Given the description of an element on the screen output the (x, y) to click on. 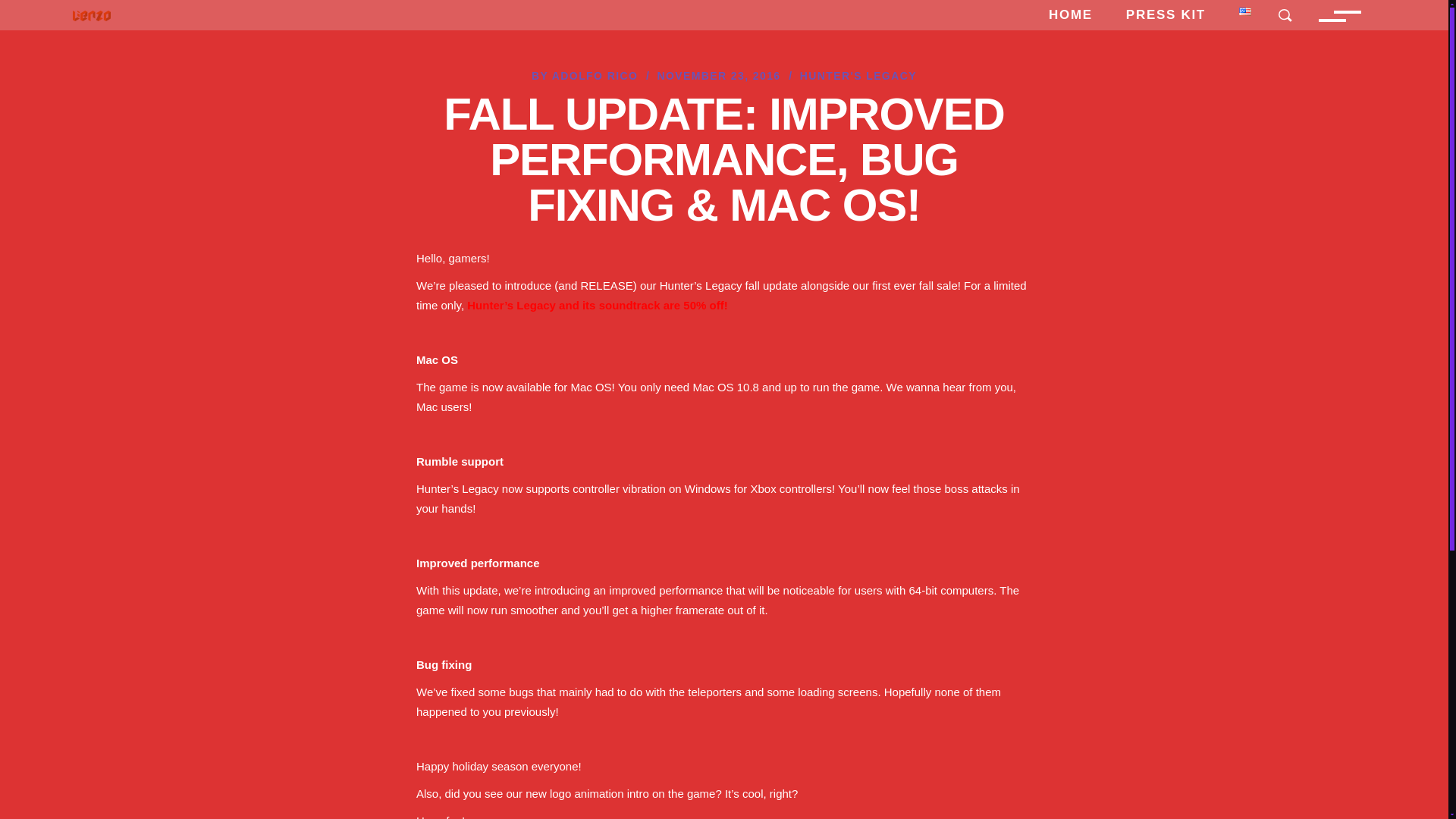
HUNTER'S LEGACY (858, 75)
NOVEMBER 23, 2016 (718, 75)
PRESS KIT (1166, 14)
HOME (1070, 14)
ADOLFO RICO (594, 75)
